Given the description of an element on the screen output the (x, y) to click on. 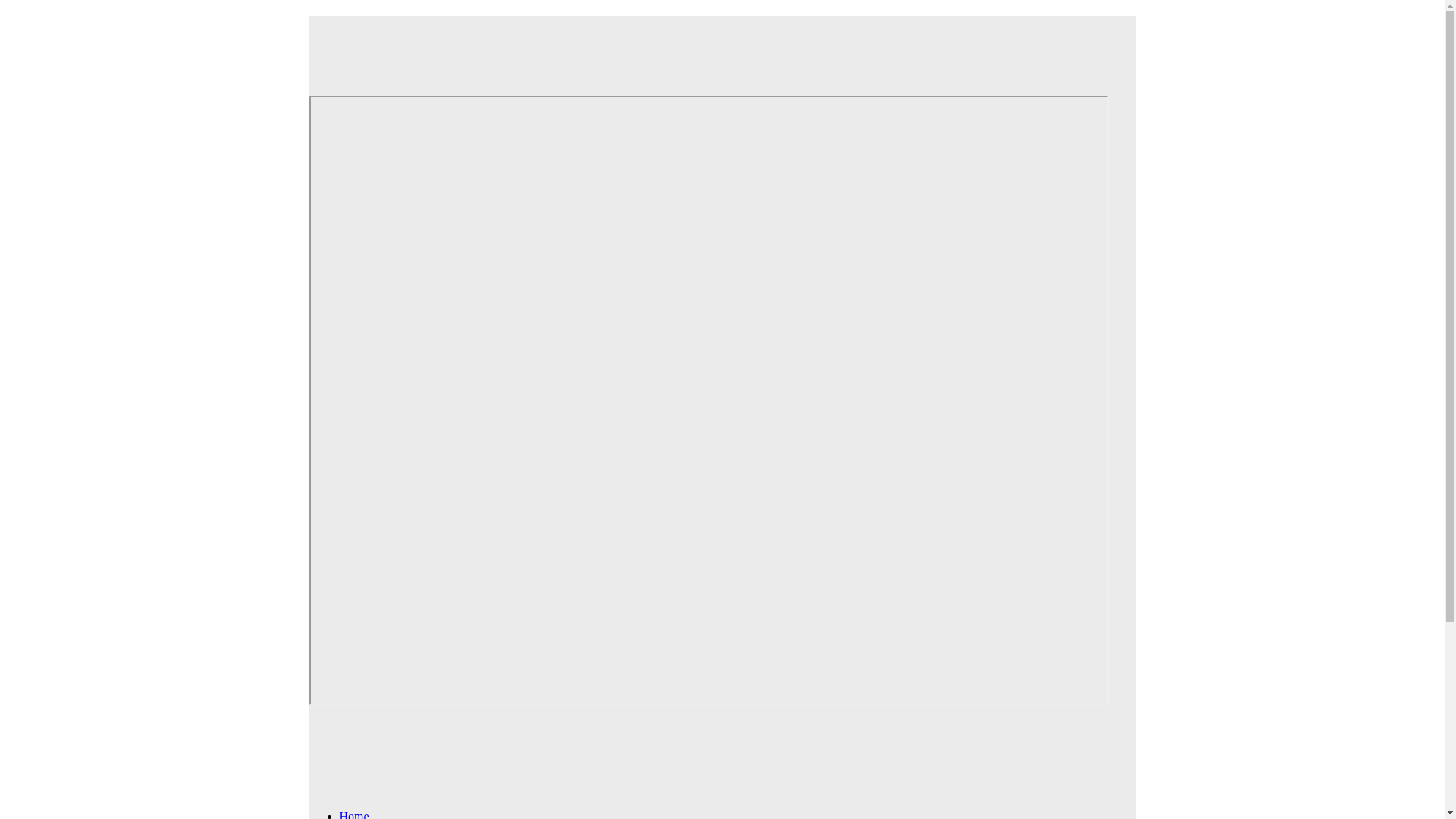
Web Hosting from Just Host Element type: text (707, 44)
